Given the description of an element on the screen output the (x, y) to click on. 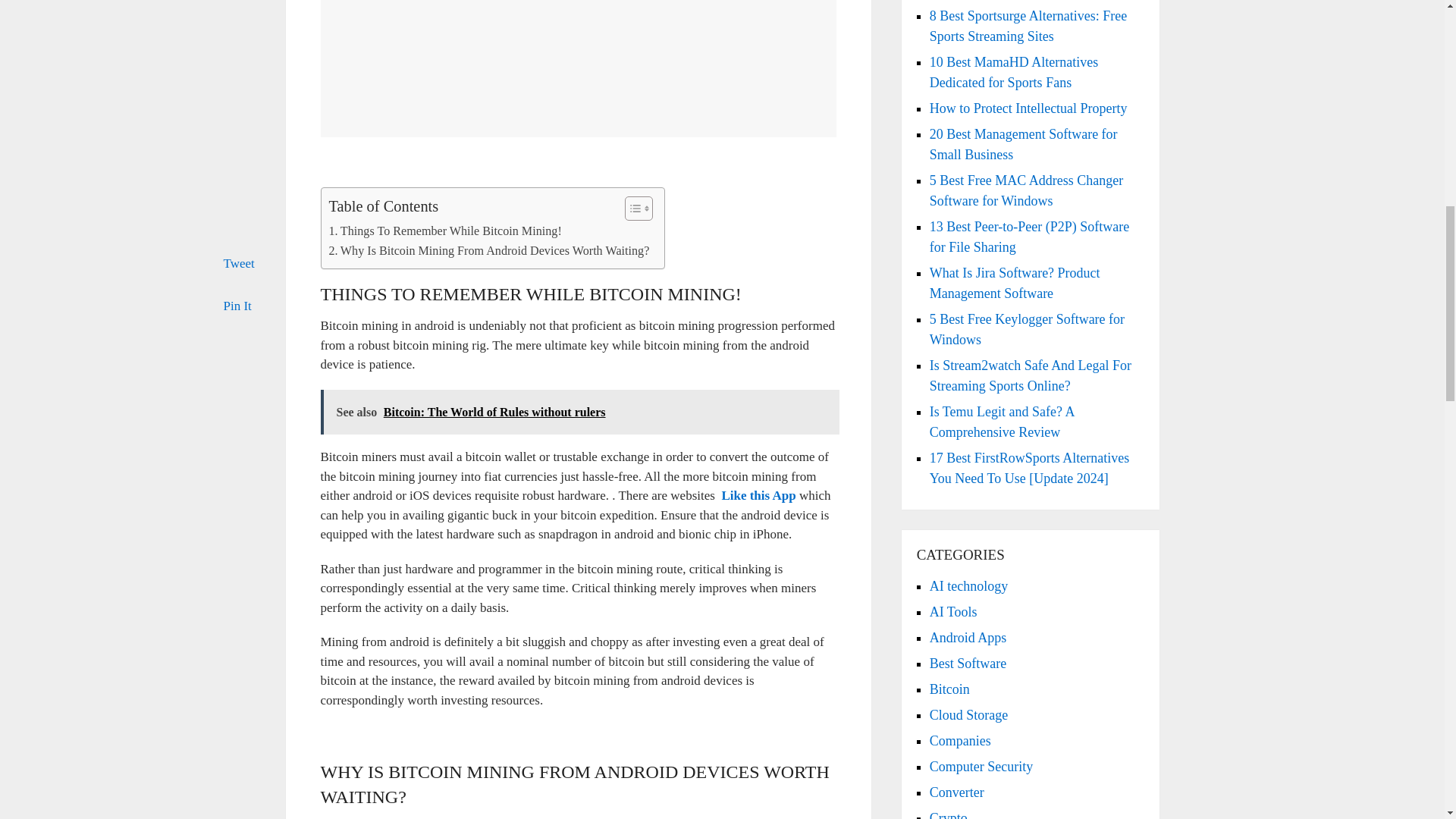
Things To Remember While Bitcoin Mining! (445, 230)
Things To Remember While Bitcoin Mining! (445, 230)
See also  Bitcoin: The World of Rules without rulers (579, 411)
Like this App (757, 495)
Why Is Bitcoin Mining From Android Devices Worth Waiting? (489, 250)
Why Is Bitcoin Mining From Android Devices Worth Waiting? (489, 250)
How to Start Your Bitcoin Mining Venture on a SmartPhone? 1 (577, 68)
